Given the description of an element on the screen output the (x, y) to click on. 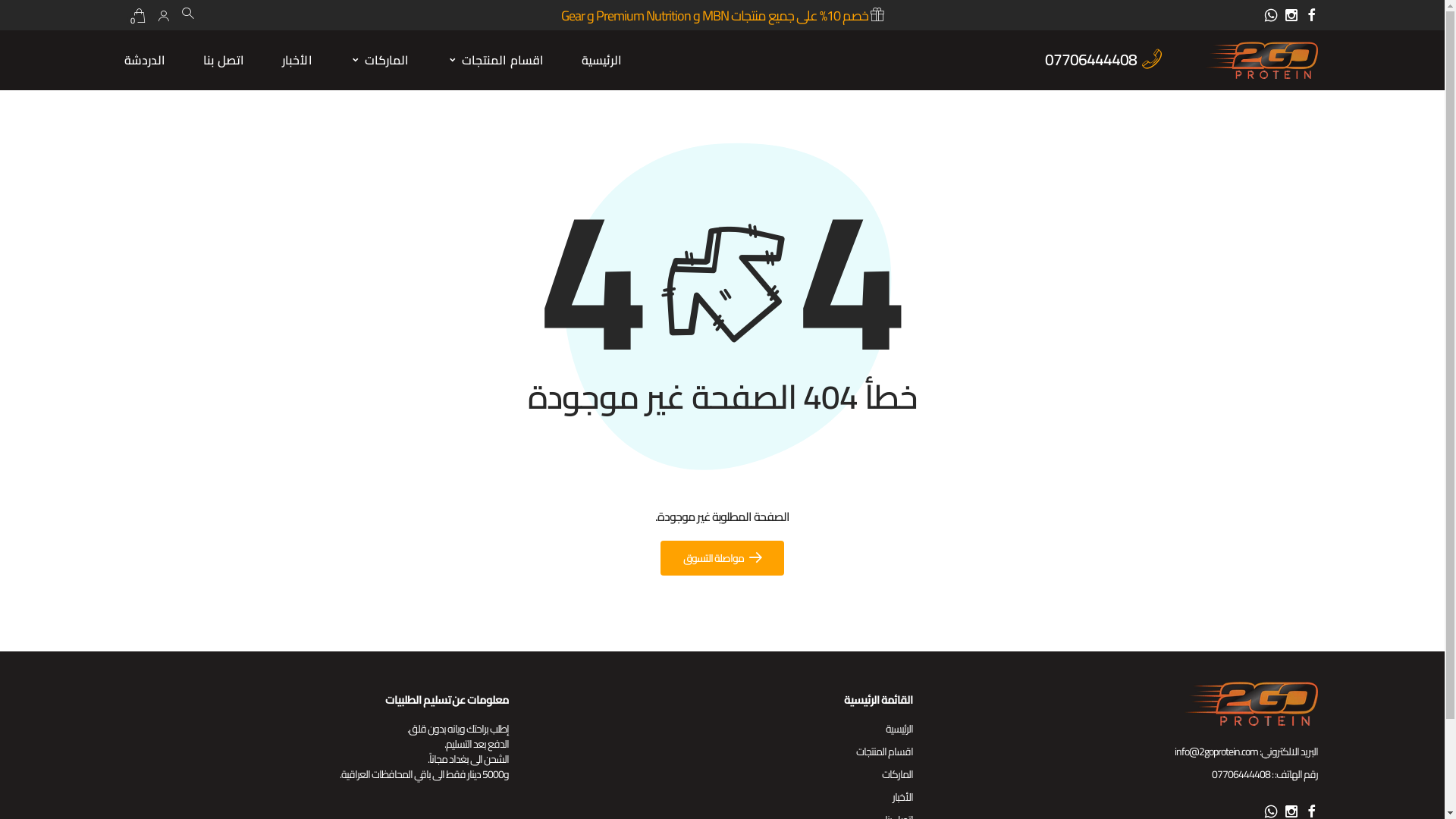
: 07706444408 Element type: text (1242, 773)
07706444408 Element type: text (1090, 59)
info@2goprotein.com Element type: text (1215, 751)
0 Element type: text (138, 14)
